Given the description of an element on the screen output the (x, y) to click on. 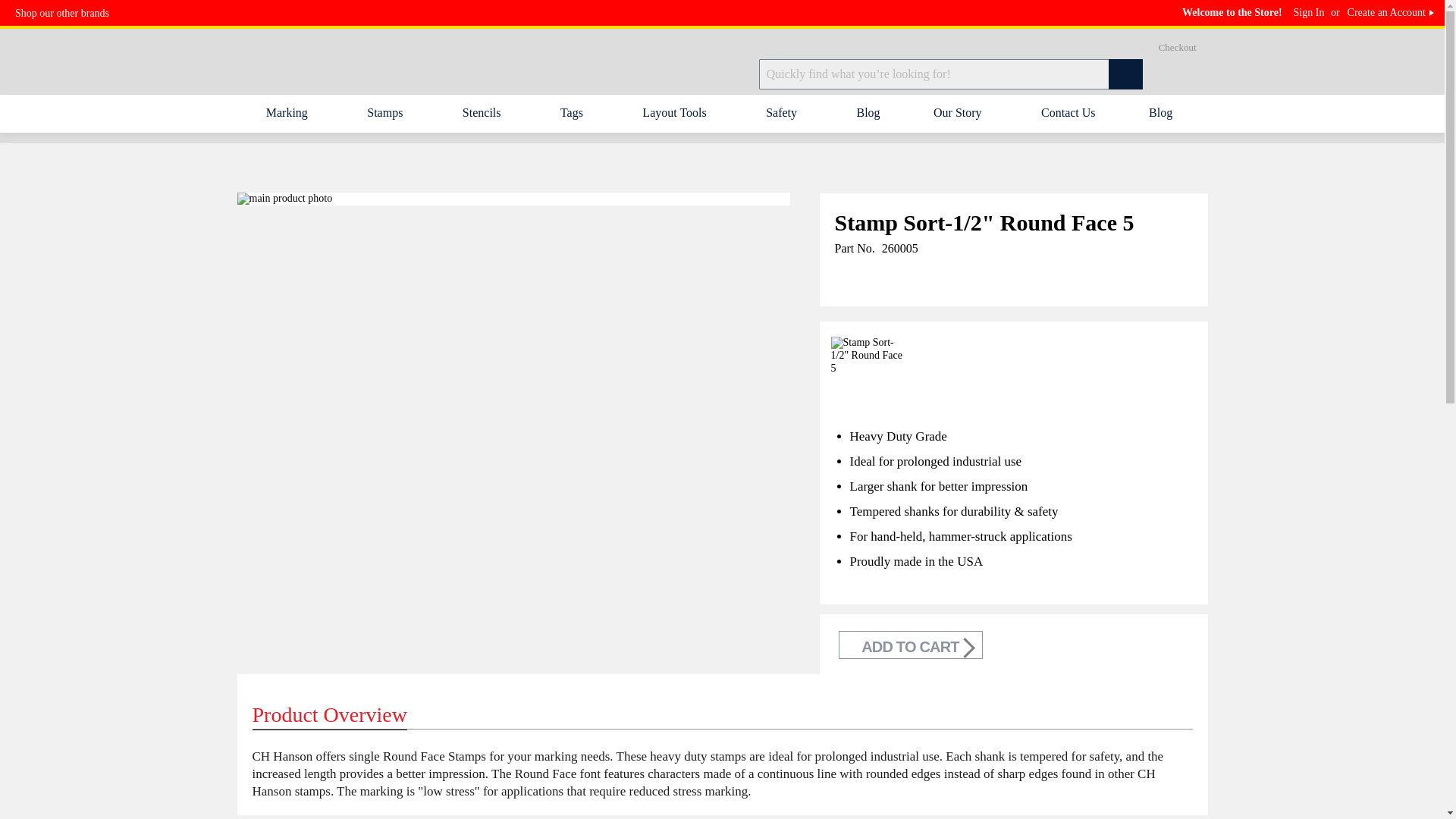
Search (1121, 80)
Marking (290, 112)
Checkout (1177, 47)
Search (1121, 80)
My Cart (1172, 73)
Sign In (1309, 12)
Stamps (387, 112)
Create an Account (1386, 12)
Add to Cart (910, 644)
